Given the description of an element on the screen output the (x, y) to click on. 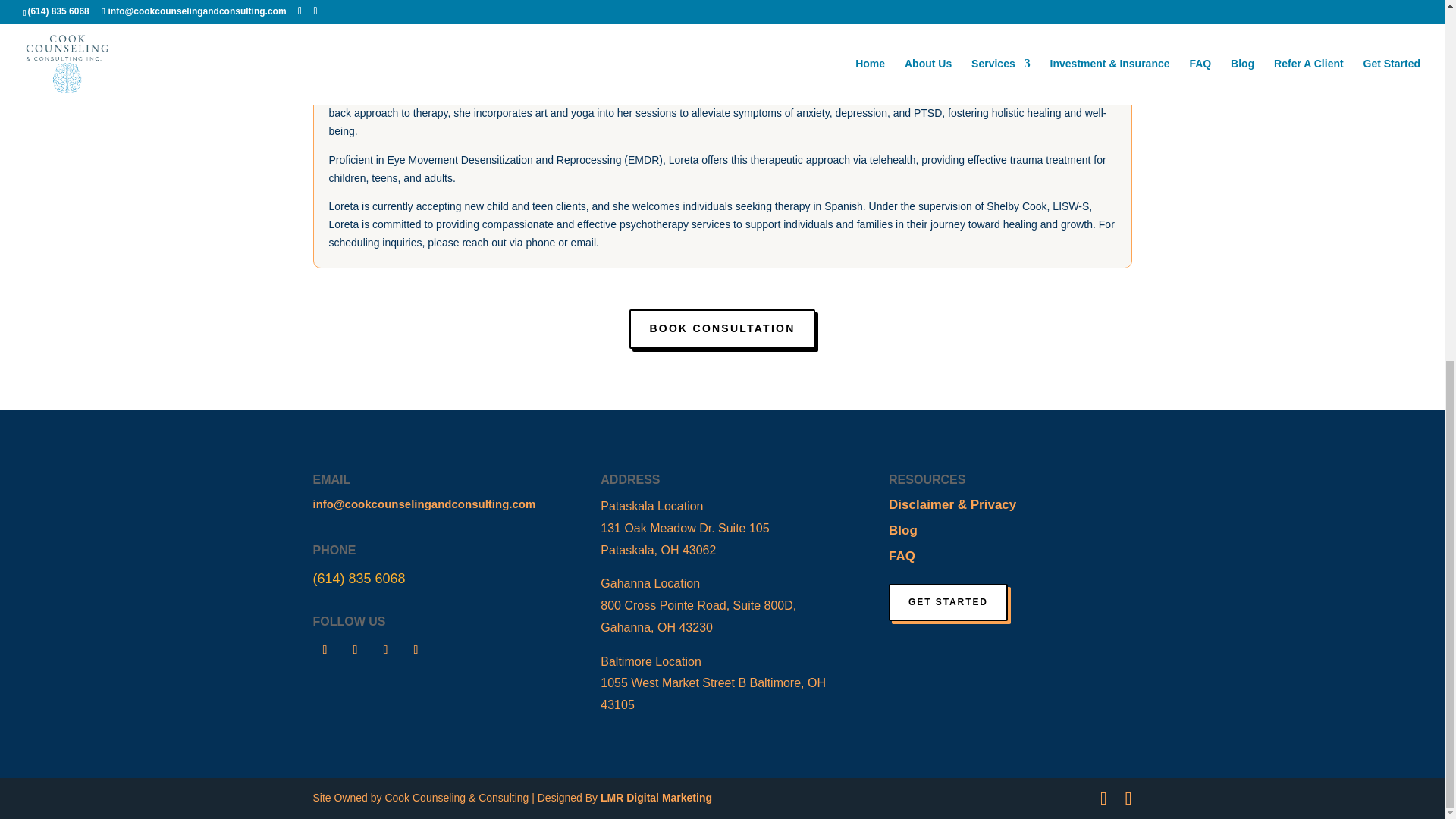
Follow on Facebook (324, 649)
Follow on LinkedIn (384, 649)
Follow on Pinterest (415, 649)
Follow on Instagram (354, 649)
